Given the description of an element on the screen output the (x, y) to click on. 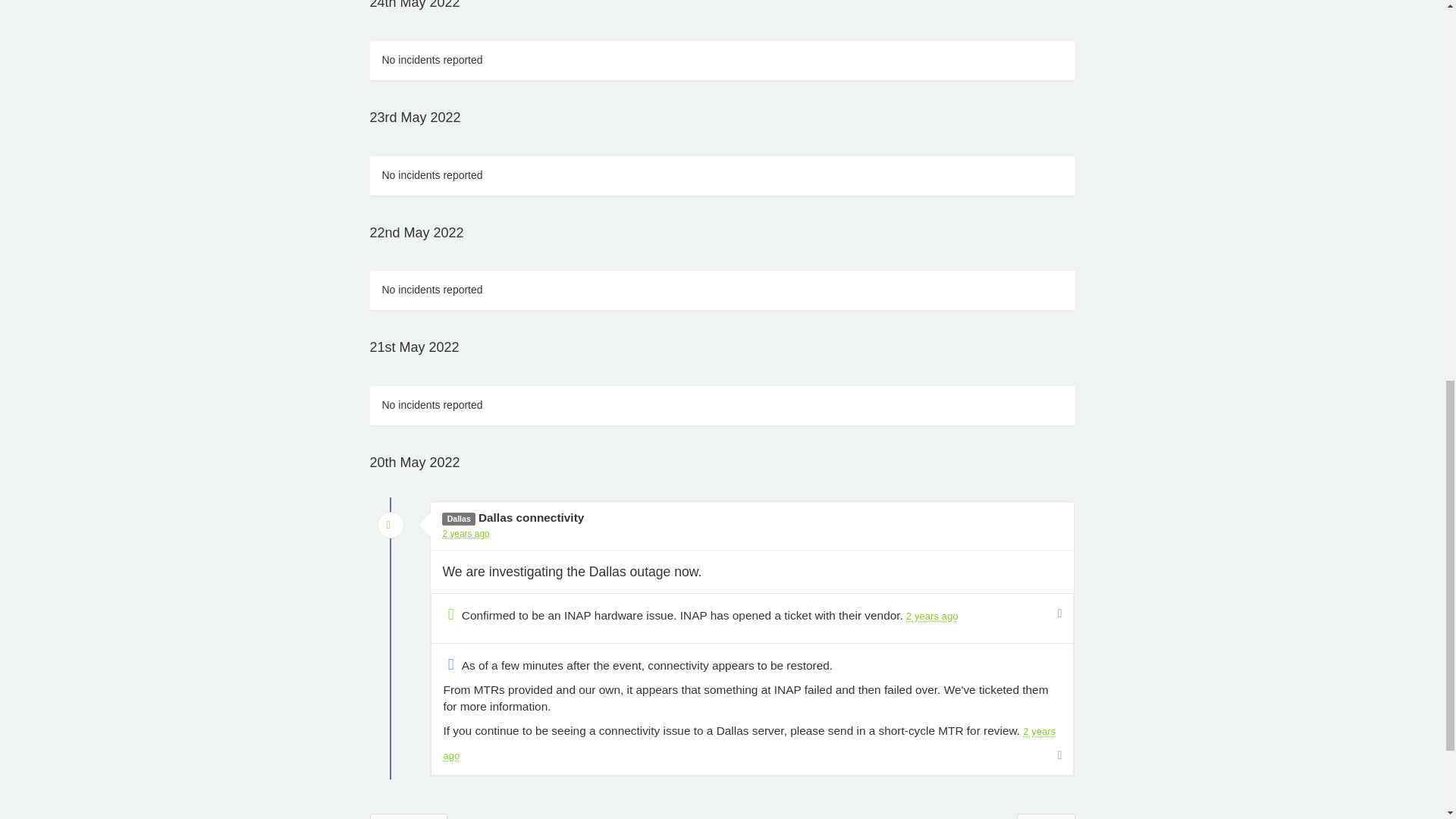
2 years ago (465, 533)
